Given the description of an element on the screen output the (x, y) to click on. 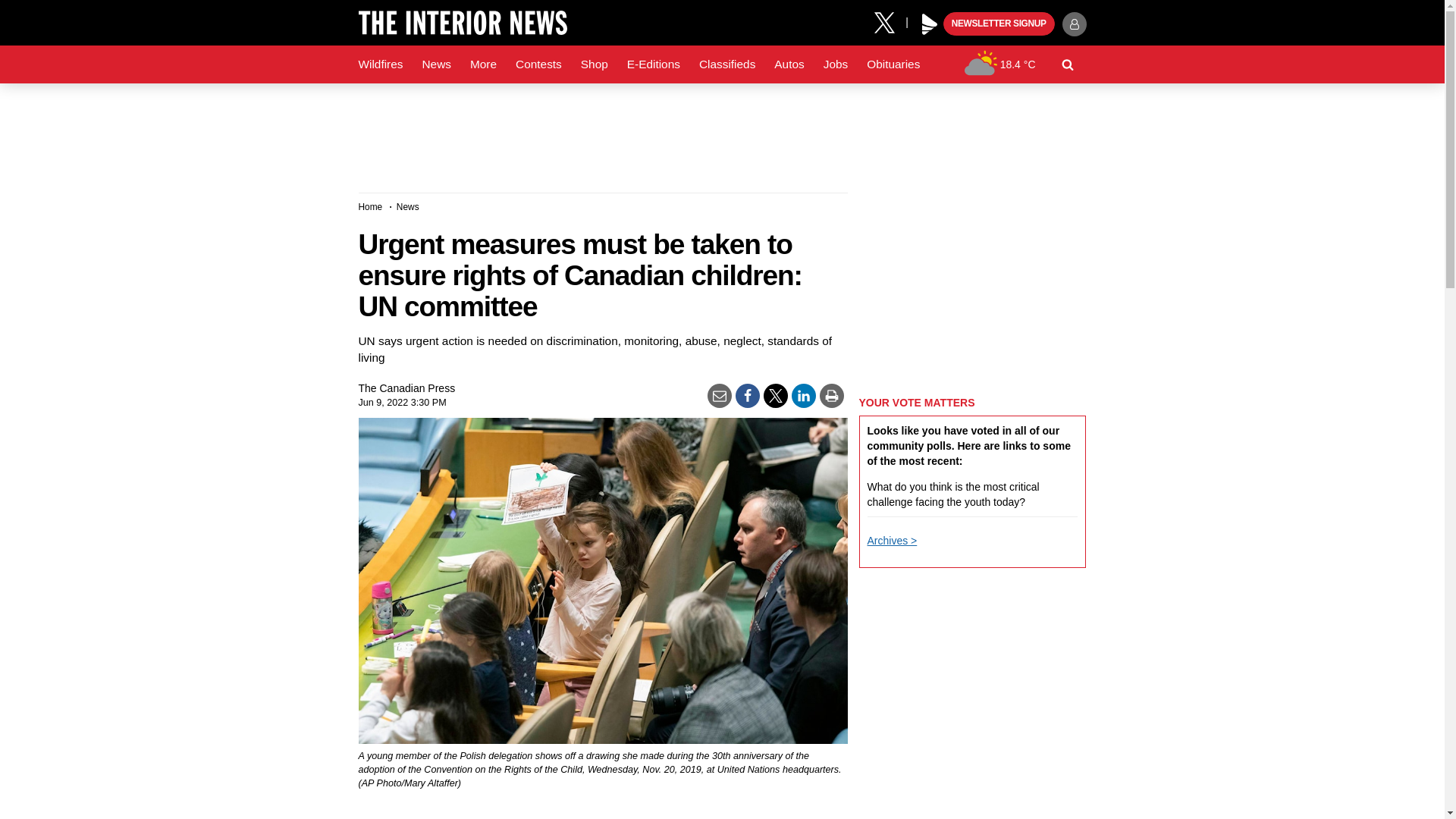
NEWSLETTER SIGNUP (998, 24)
X (889, 21)
News (435, 64)
Wildfires (380, 64)
Play (929, 24)
Black Press Media (929, 24)
